Given the description of an element on the screen output the (x, y) to click on. 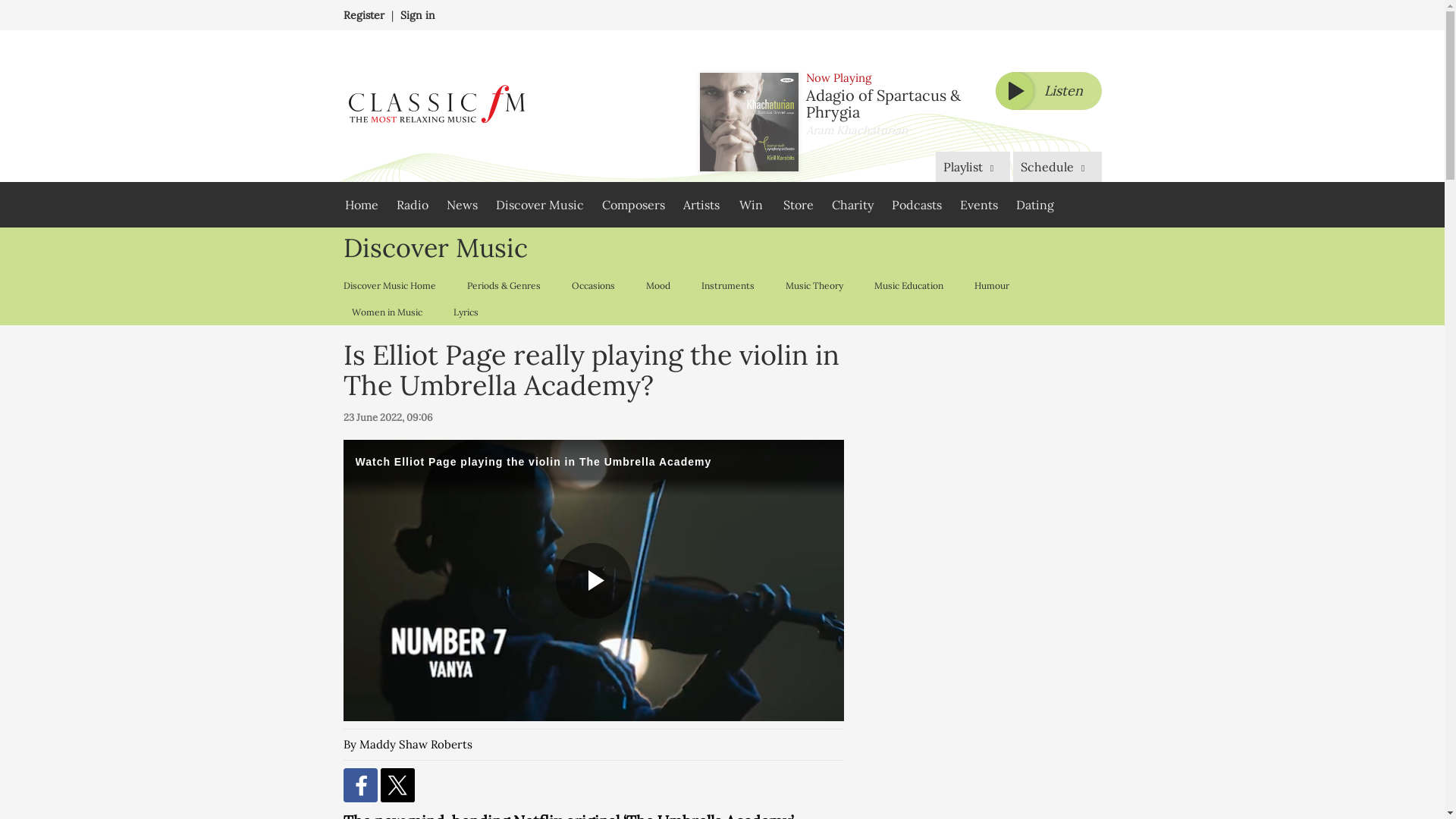
Artists (700, 204)
Classic FM (435, 106)
Instruments (727, 285)
Women in Music (385, 311)
Occasions (591, 285)
Music Education (908, 285)
Podcasts (916, 204)
Playlist (973, 166)
Composers (633, 204)
Humour (991, 285)
Discover Music (539, 204)
Listen (1047, 90)
Home (360, 204)
Discover Music Home (391, 285)
